Given the description of an element on the screen output the (x, y) to click on. 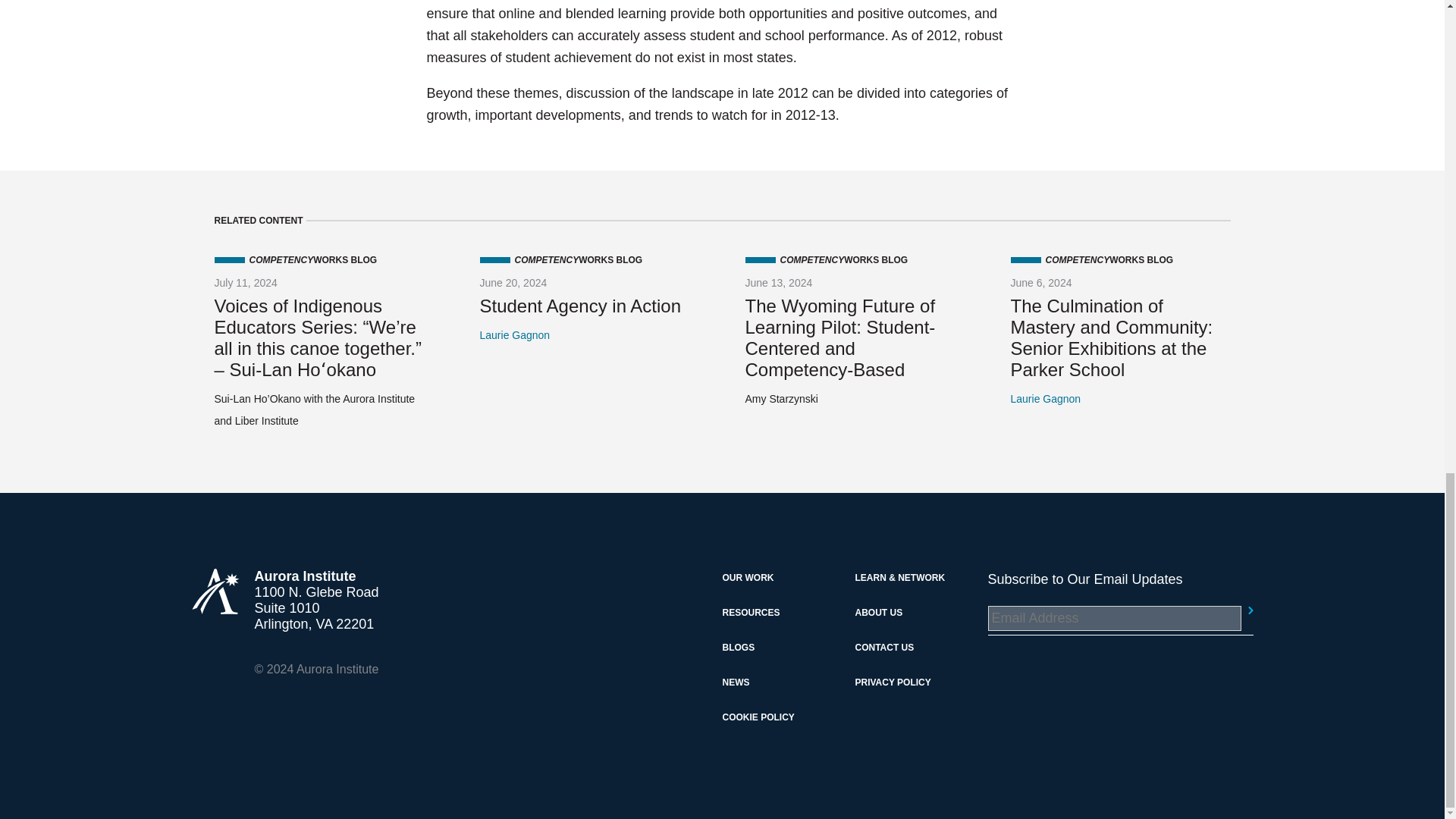
Submit (1243, 610)
